Given the description of an element on the screen output the (x, y) to click on. 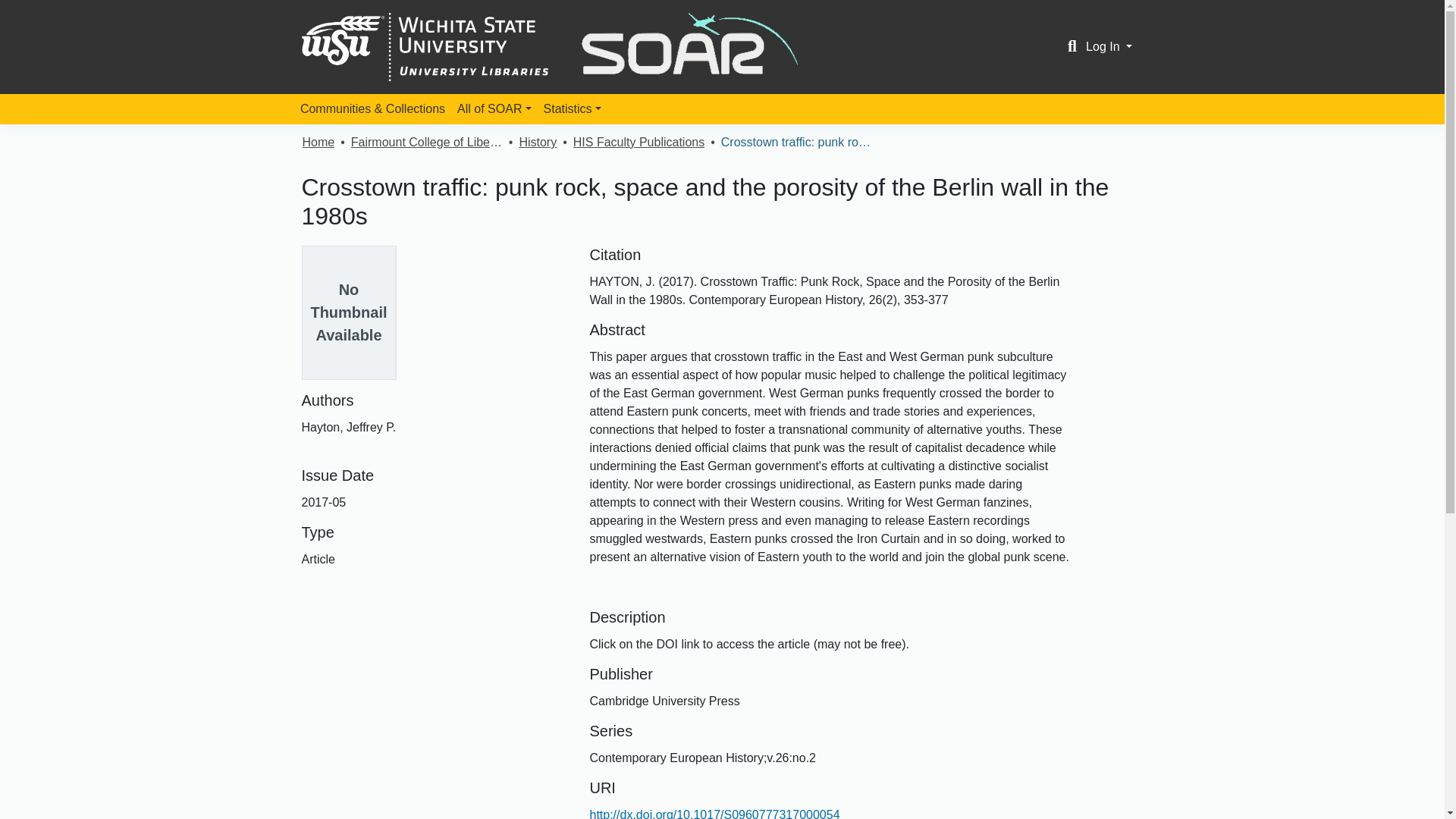
Statistics (572, 109)
Fairmount College of Liberal Arts and Sciences (426, 142)
History (537, 142)
Log In (1108, 46)
Home (317, 142)
Search (1072, 46)
HIS Faculty Publications (638, 142)
All of SOAR (494, 109)
